Given the description of an element on the screen output the (x, y) to click on. 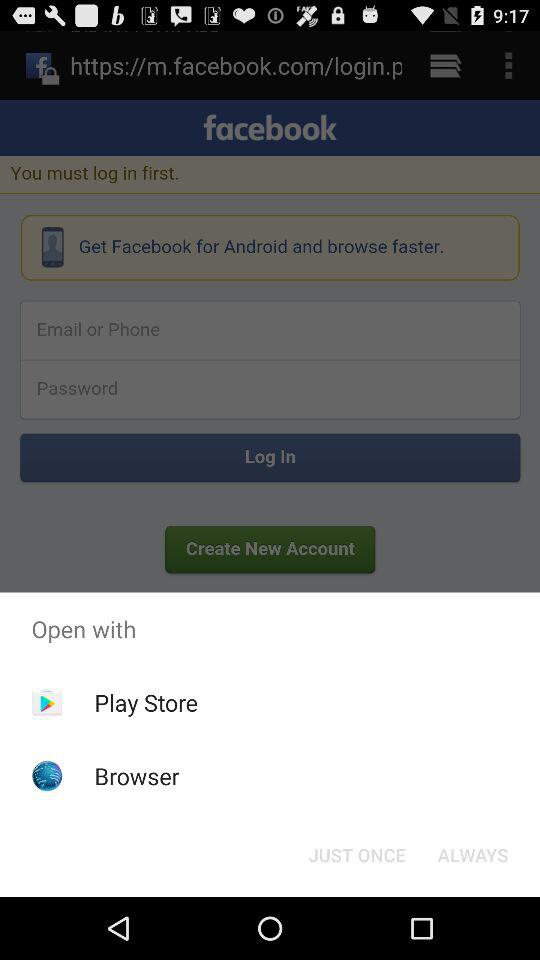
press the item at the bottom (356, 854)
